Given the description of an element on the screen output the (x, y) to click on. 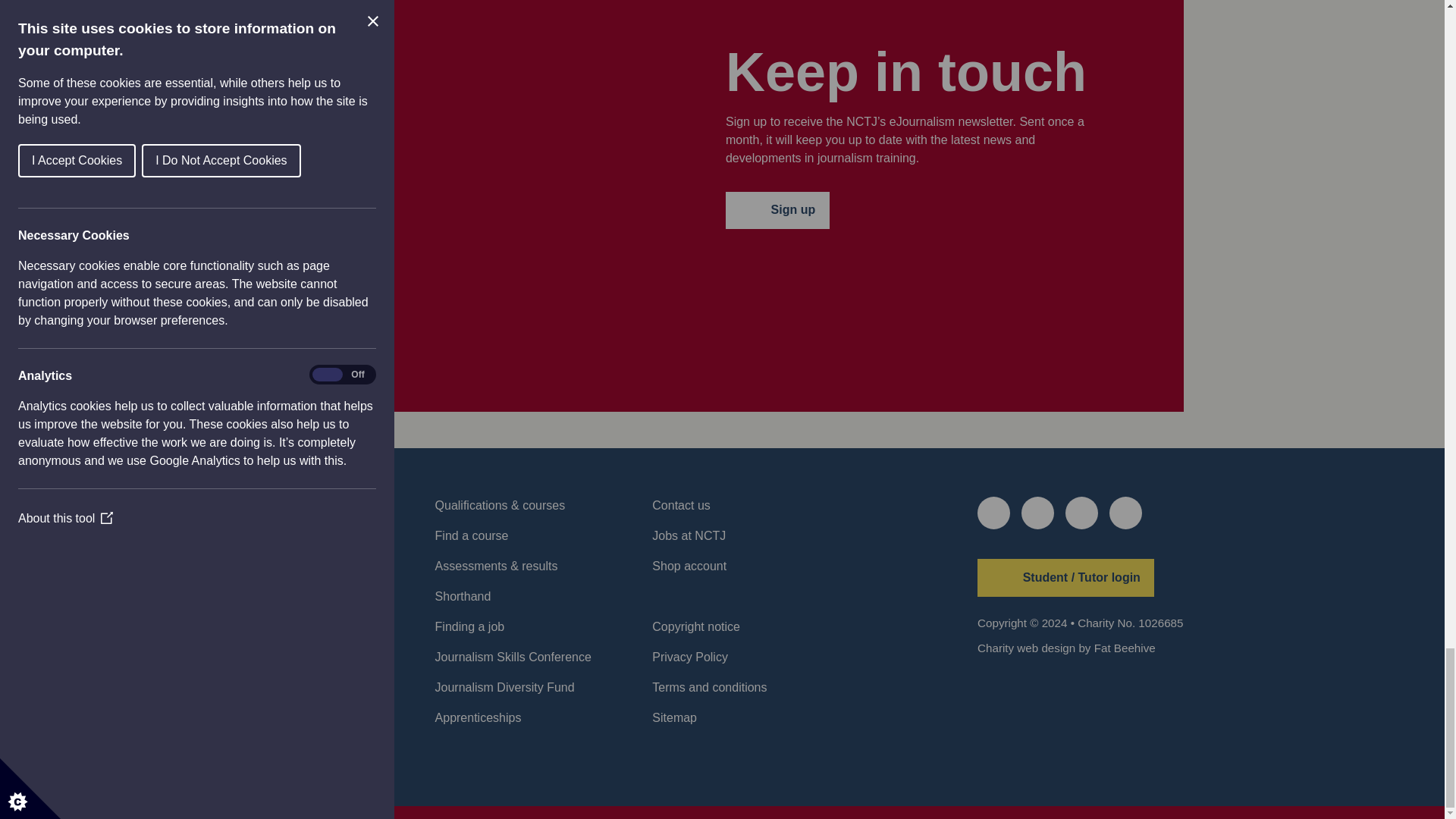
Instagram (1126, 513)
Linkedin (1081, 513)
Facebook (1037, 513)
Twitter (993, 513)
